Given the description of an element on the screen output the (x, y) to click on. 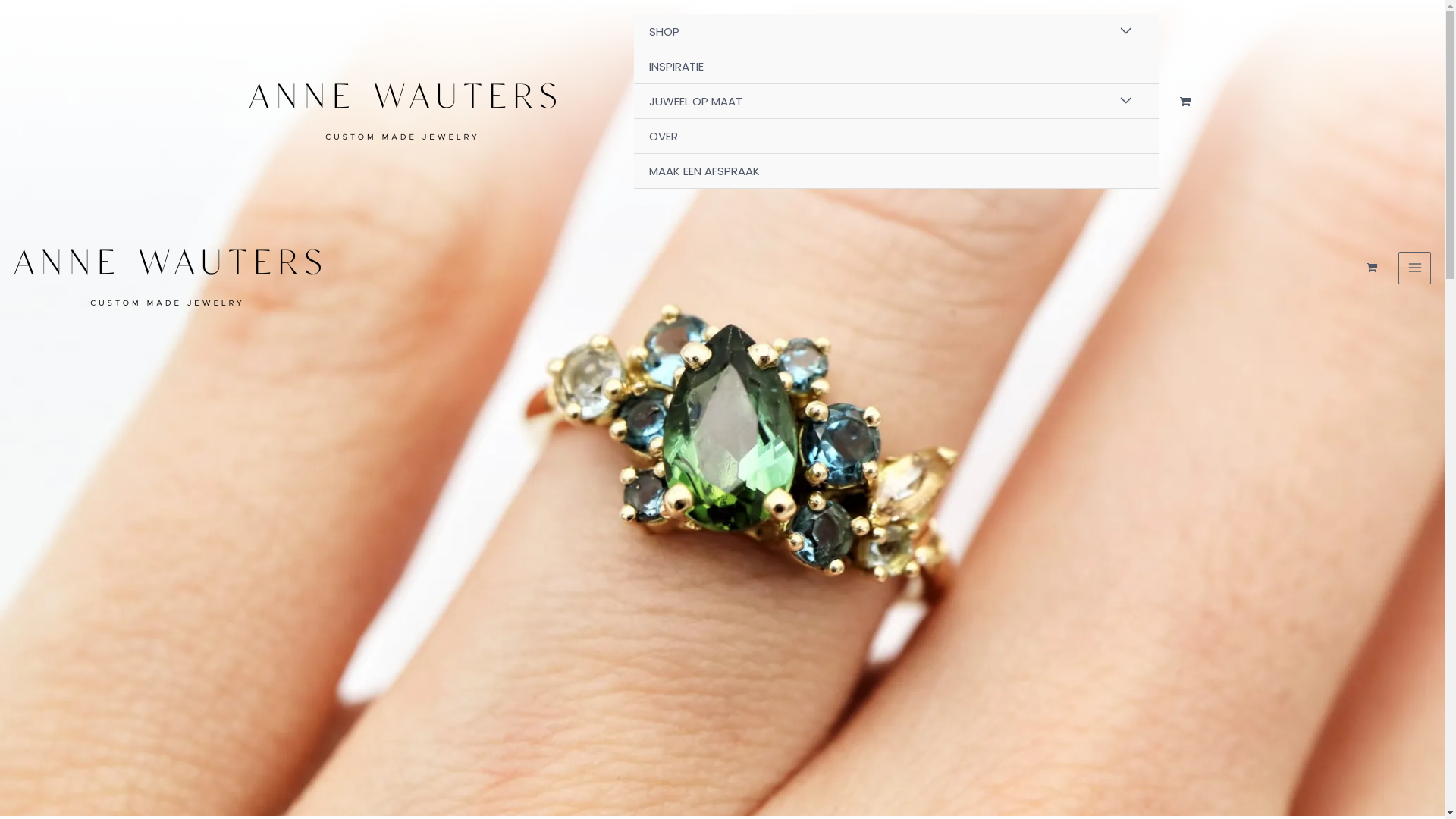
SHOP Element type: text (895, 31)
JUWEEL OP MAAT Element type: text (895, 101)
INSPIRATIE Element type: text (895, 66)
OVER Element type: text (895, 136)
MAAK EEN AFSPRAAK Element type: text (895, 170)
